Given the description of an element on the screen output the (x, y) to click on. 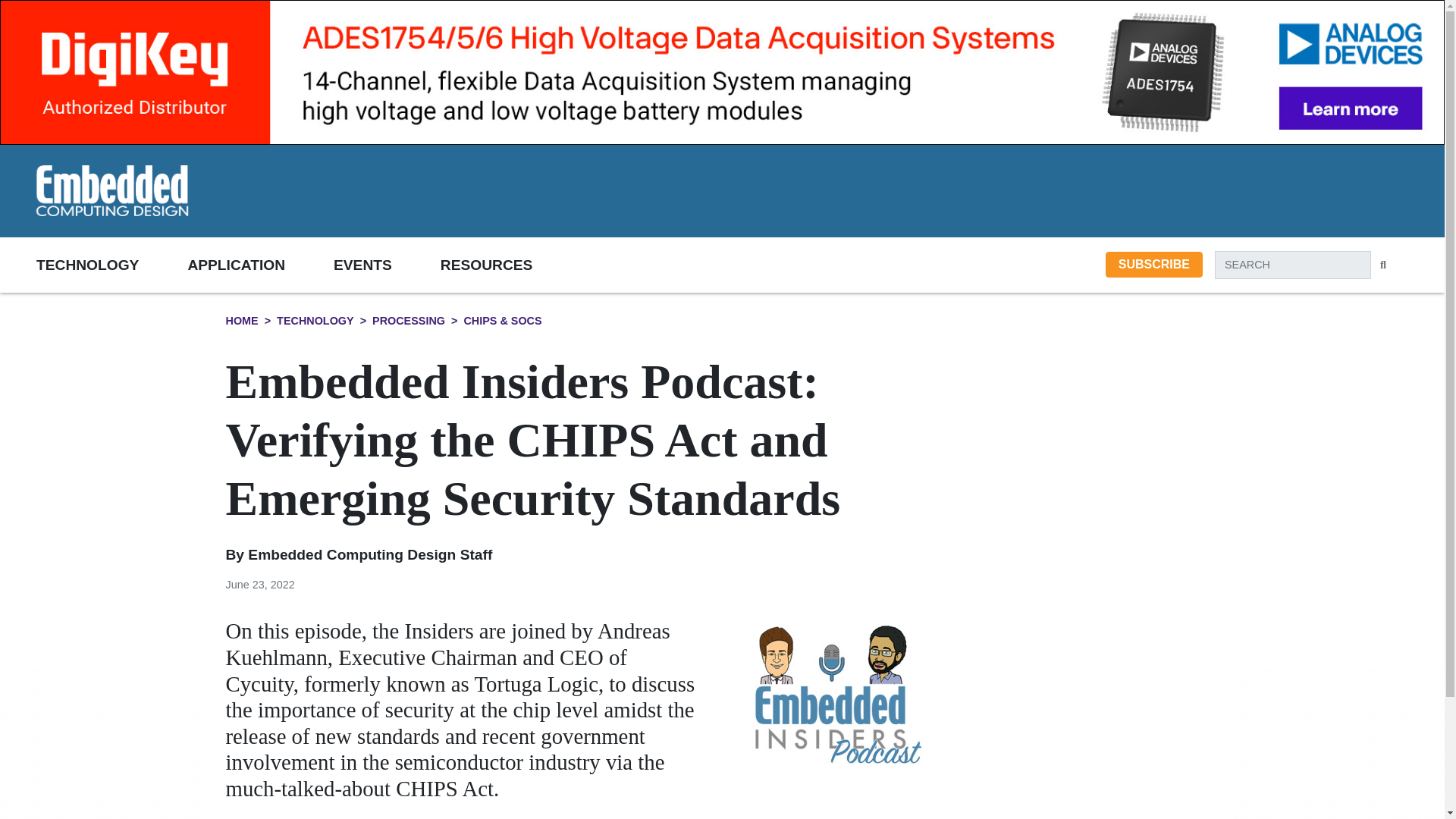
EVENTS (387, 264)
TECHNOLOGY (111, 264)
3rd party ad content (896, 190)
RESOURCES (510, 264)
APPLICATION (260, 264)
